Given the description of an element on the screen output the (x, y) to click on. 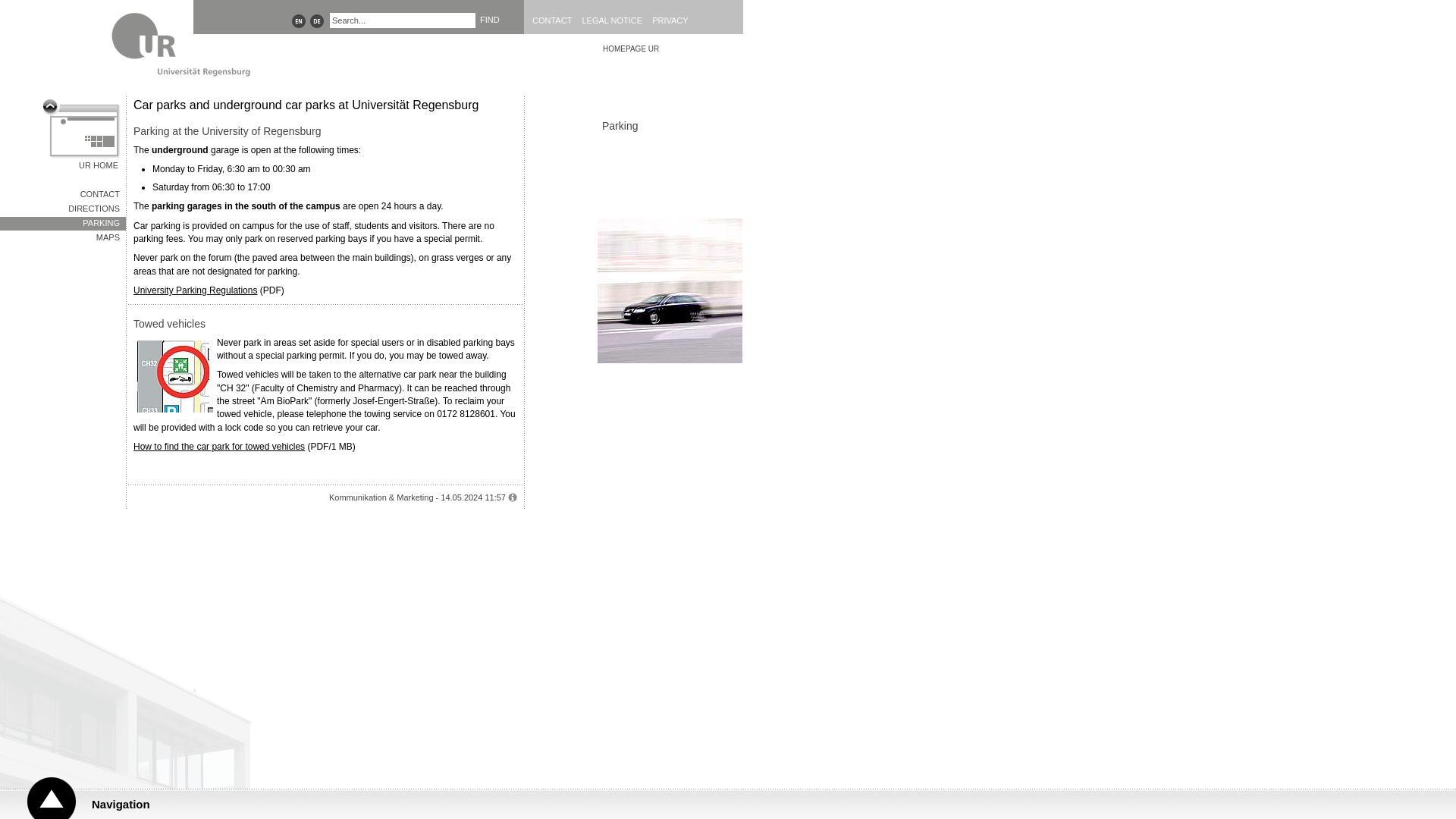
Search... (403, 20)
Last updated by Margit Scheid (512, 497)
UR HOME (81, 135)
DIRECTIONS (62, 209)
HOMEPAGE UR (670, 49)
find (489, 19)
CONTACT (555, 20)
find (489, 19)
PRIVACY (673, 20)
LEGAL NOTICE (614, 20)
